Given the description of an element on the screen output the (x, y) to click on. 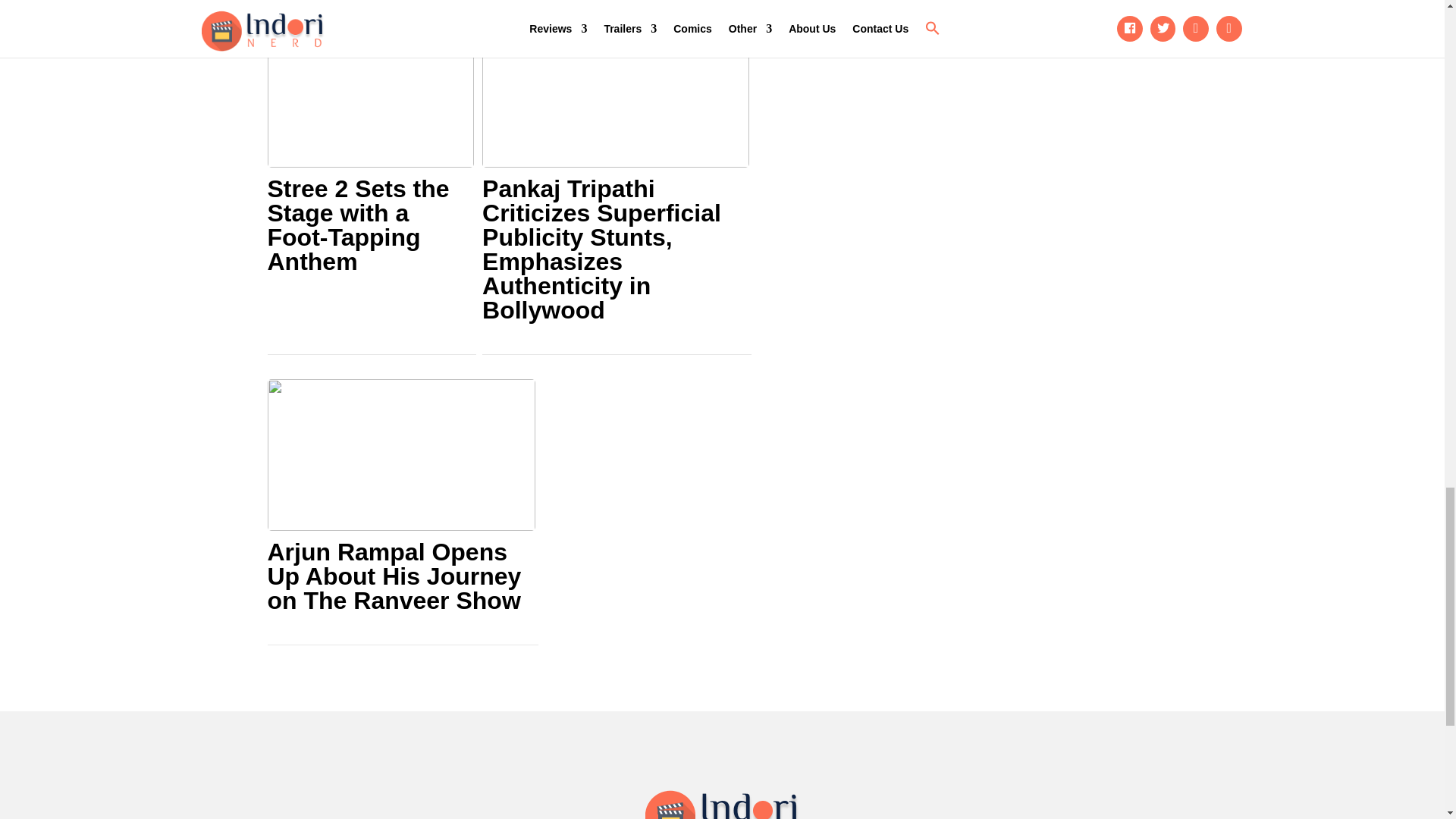
Arjun Rampal Opens Up About His Journey on The Ranveer Show (400, 575)
Stree 2 Sets the Stage with a Foot-Tapping Anthem (369, 224)
Arjun Rampal Opens Up About His Journey on The Ranveer Show (400, 575)
Stree 2 Sets the Stage with a Foot-Tapping Anthem (369, 224)
